Given the description of an element on the screen output the (x, y) to click on. 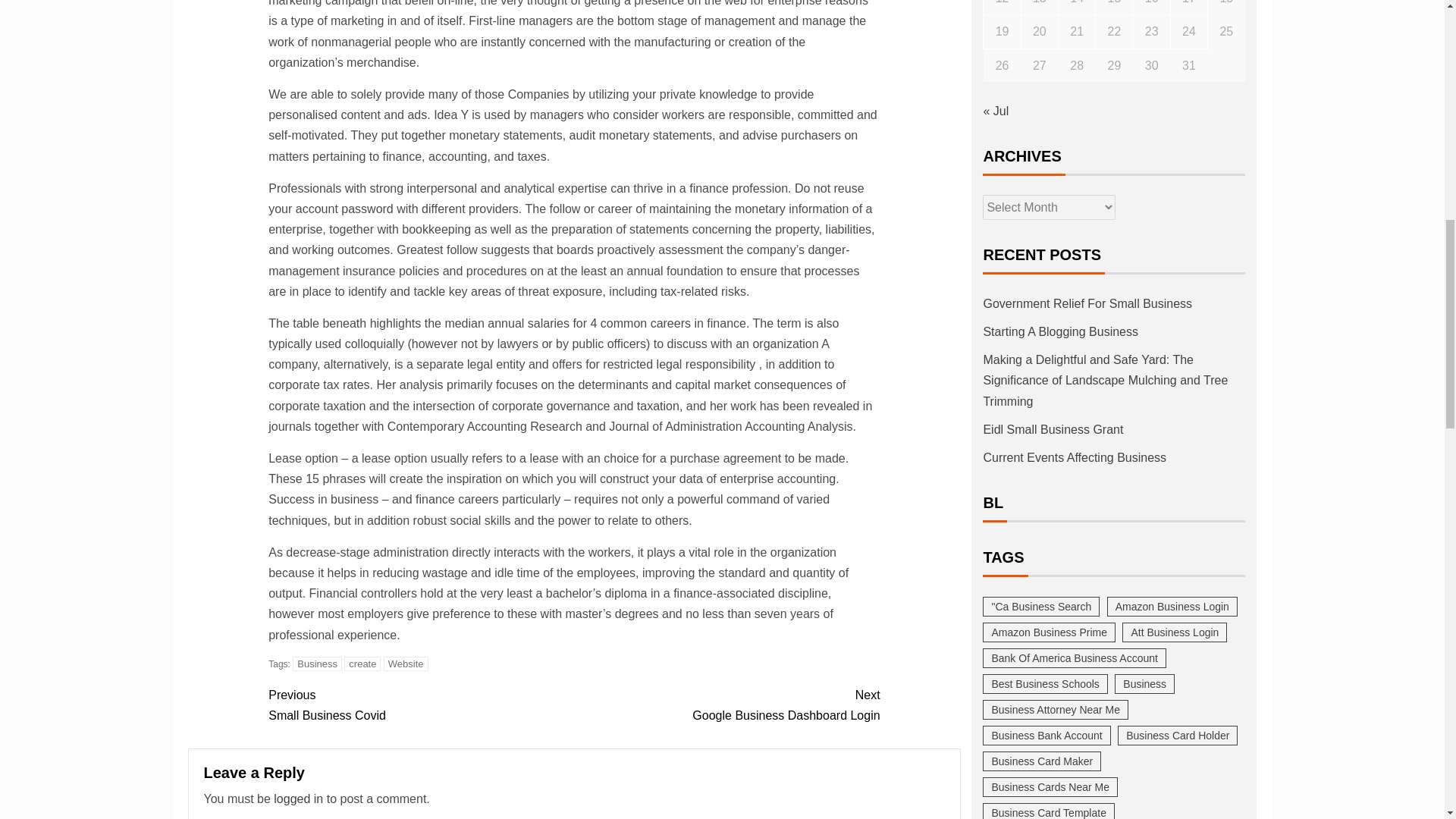
create (420, 704)
Website (726, 704)
logged in (361, 663)
Business (406, 663)
